Given the description of an element on the screen output the (x, y) to click on. 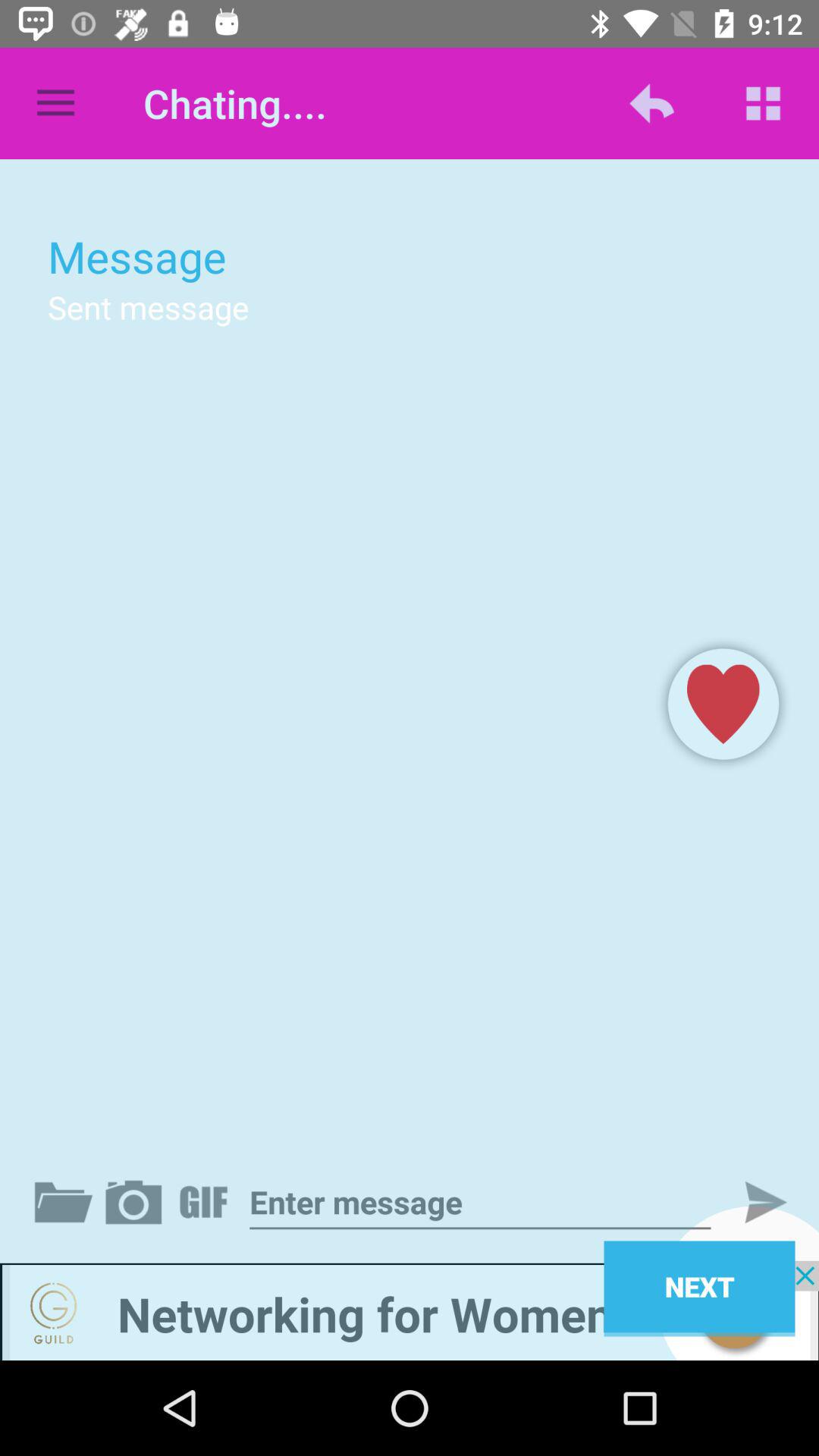
gifte (206, 1202)
